Given the description of an element on the screen output the (x, y) to click on. 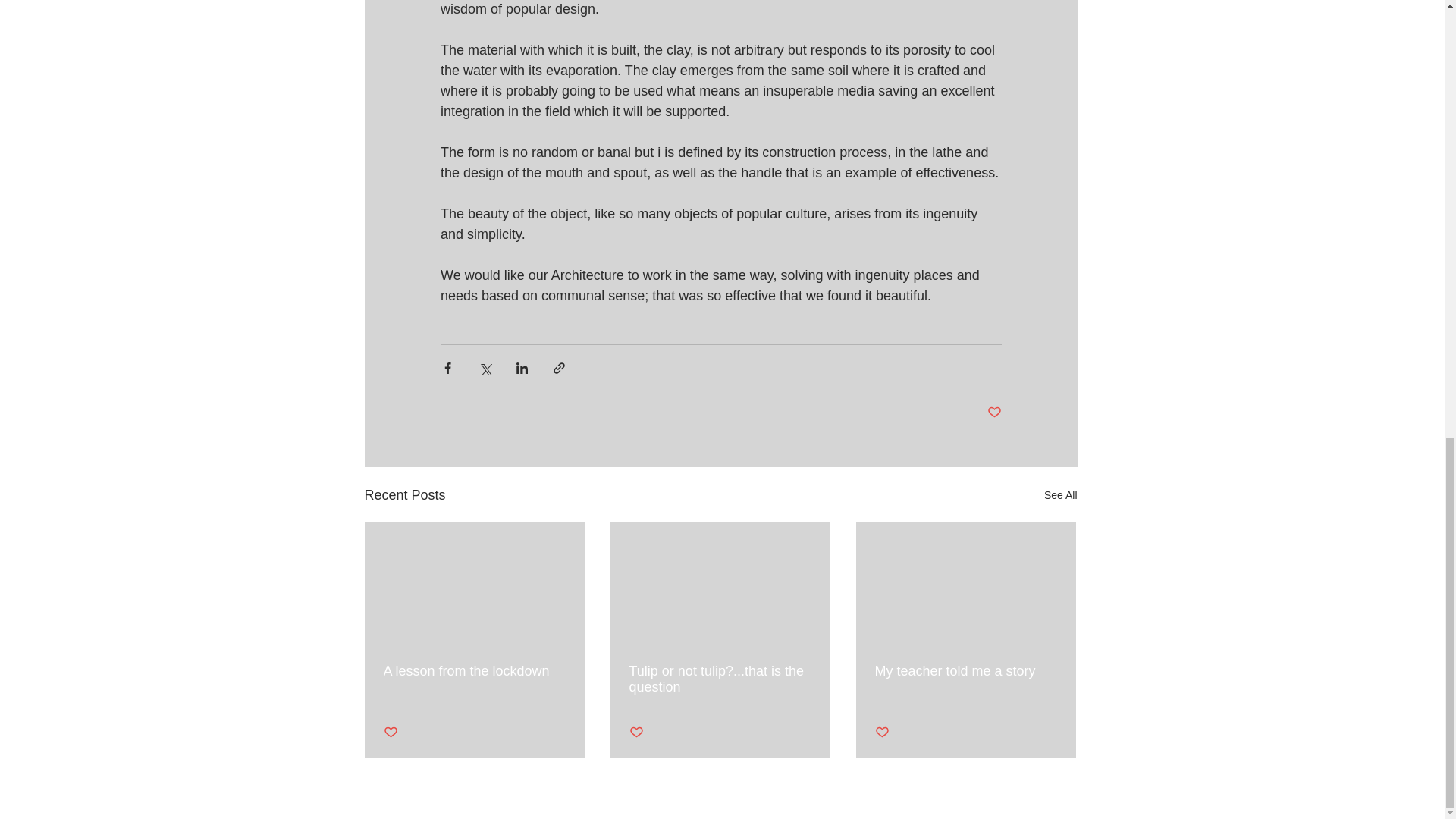
A lesson from the lockdown (475, 671)
See All (1060, 495)
Post not marked as liked (994, 412)
